Given the description of an element on the screen output the (x, y) to click on. 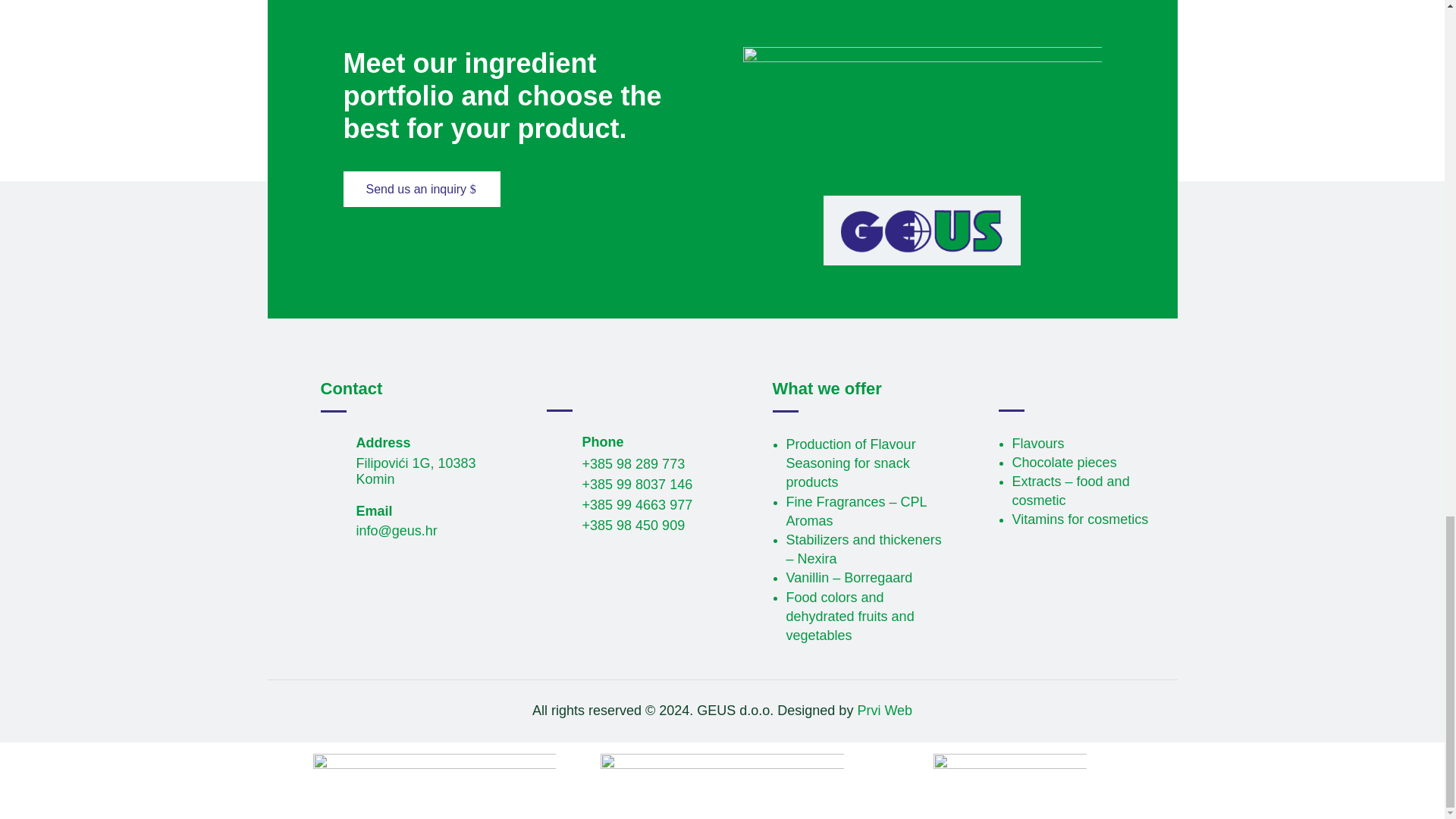
Europski-strukturni-i-investicijski-fondovi (1009, 780)
geus-logo-ver-3 (922, 230)
EU-amblem2 (433, 779)
slide-1 (922, 130)
